Given the description of an element on the screen output the (x, y) to click on. 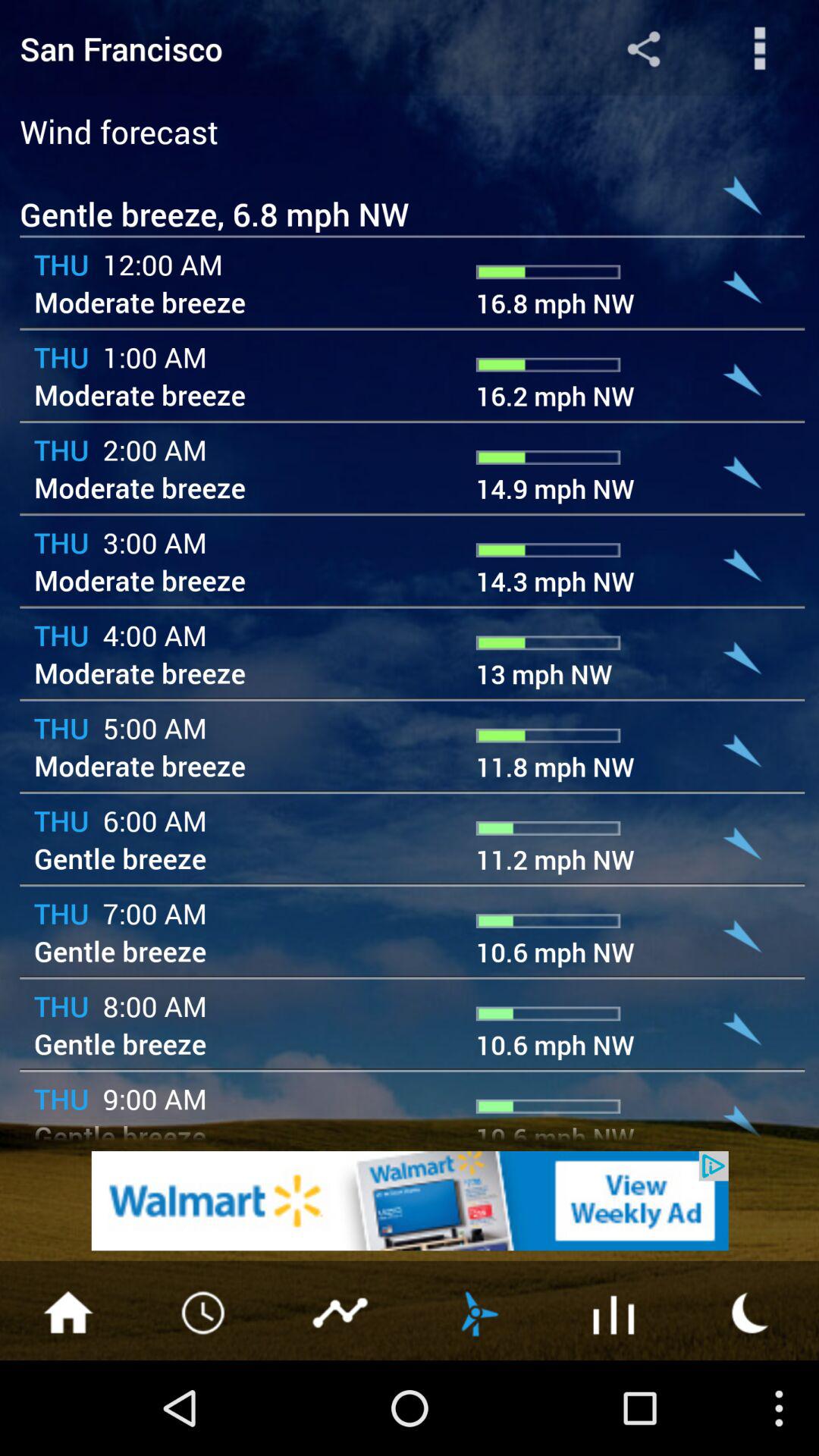
show time (204, 1311)
